Given the description of an element on the screen output the (x, y) to click on. 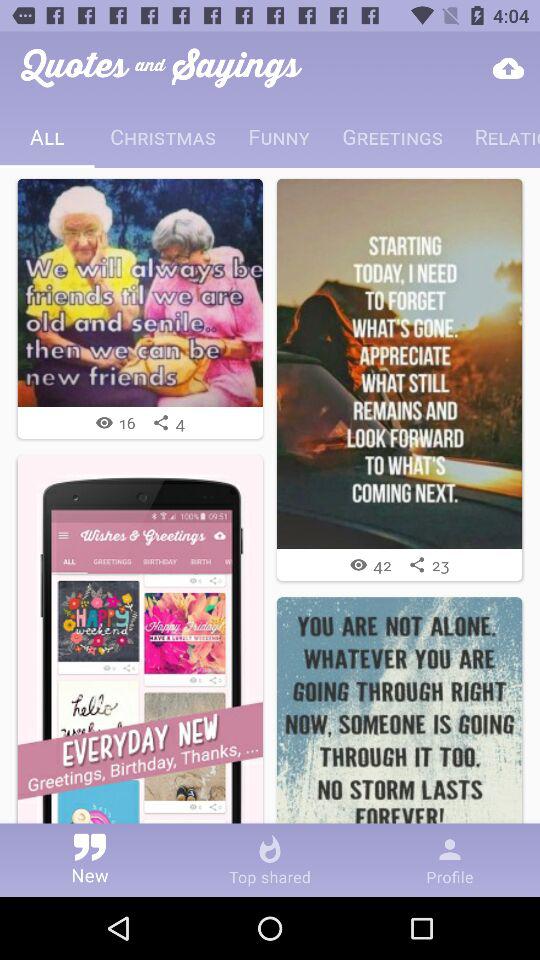
image with phrase (399, 719)
